Given the description of an element on the screen output the (x, y) to click on. 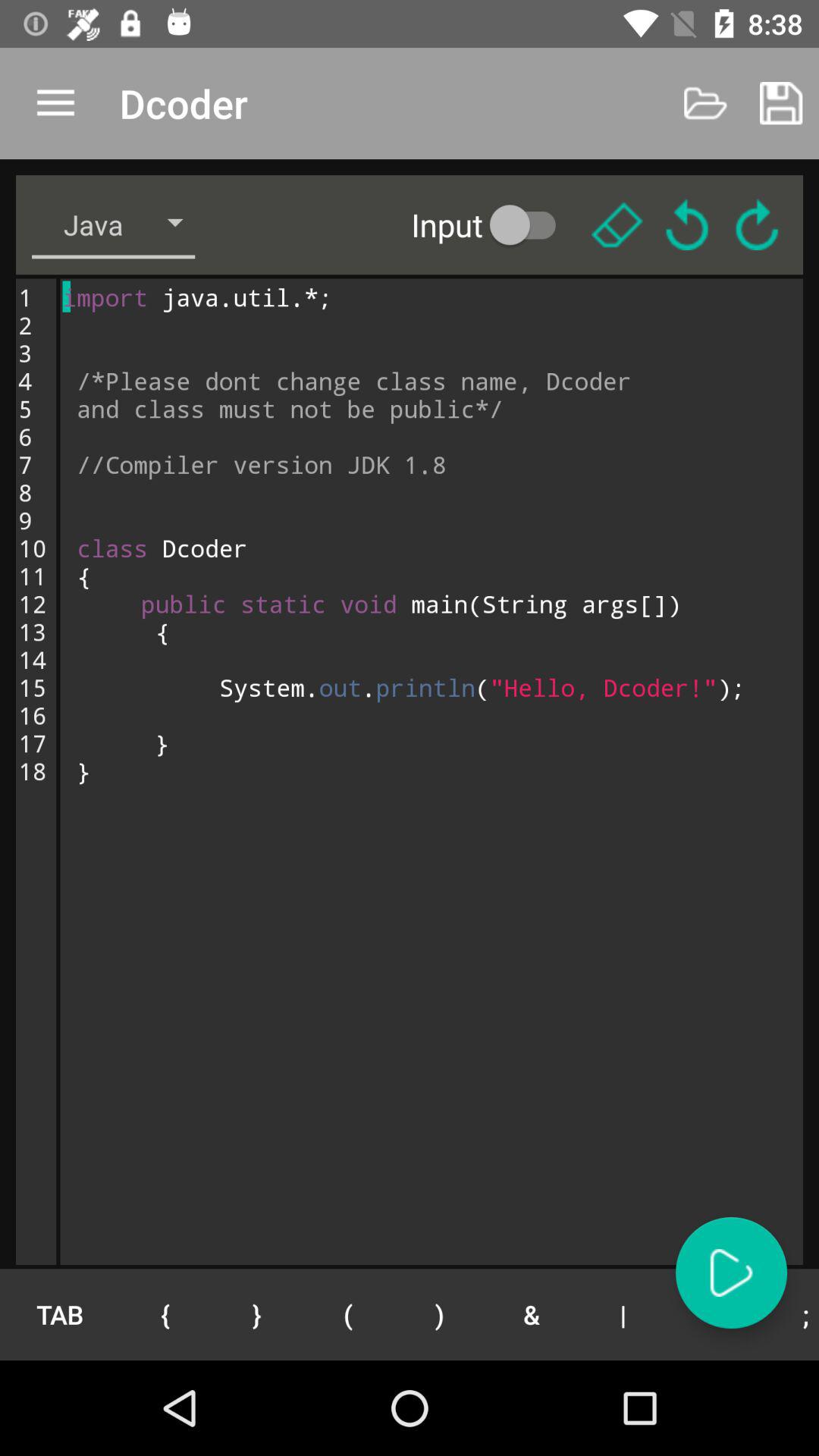
to compile the program (731, 1272)
